Given the description of an element on the screen output the (x, y) to click on. 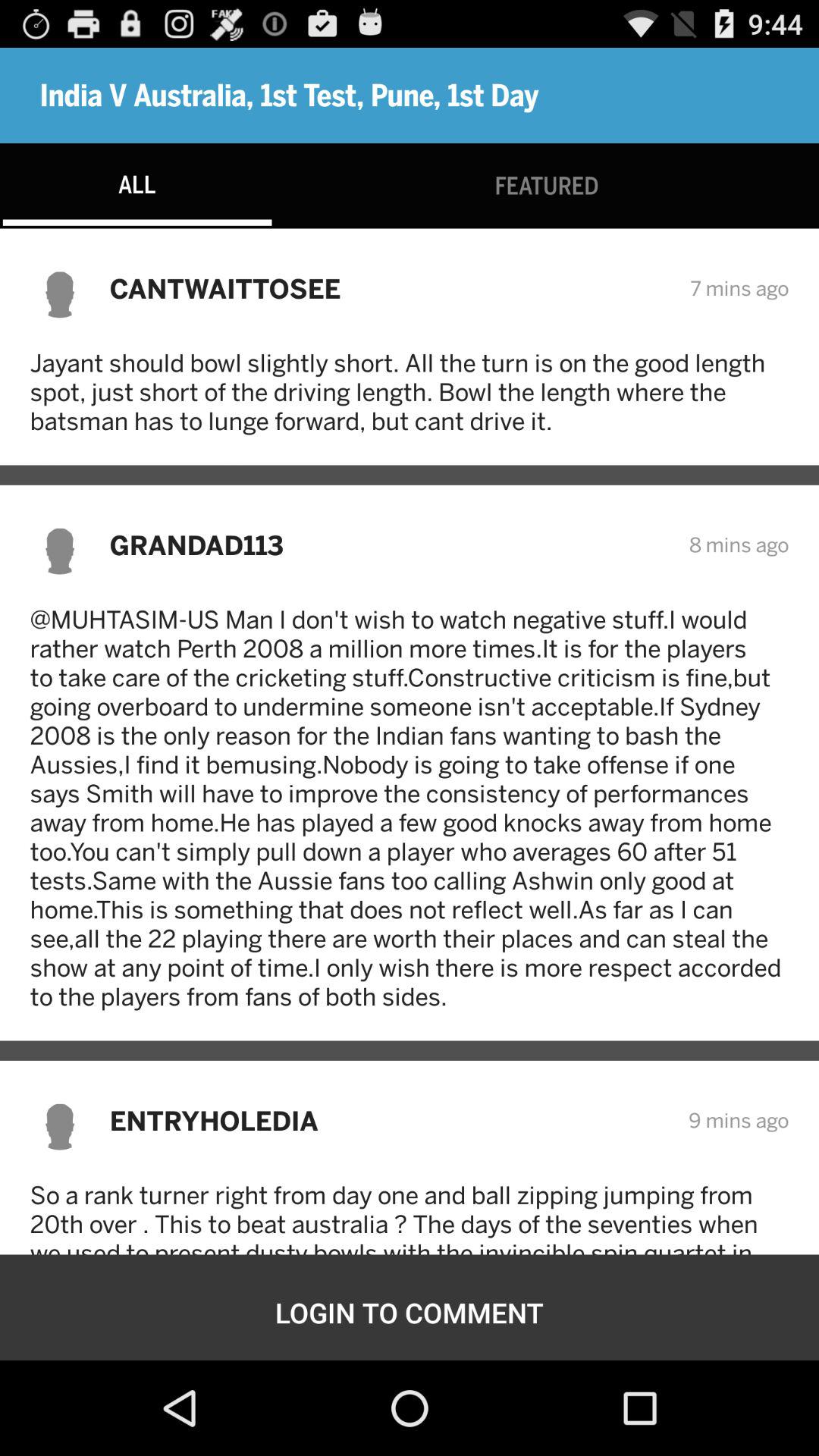
launch the icon below the muhtasim us man icon (388, 1120)
